Given the description of an element on the screen output the (x, y) to click on. 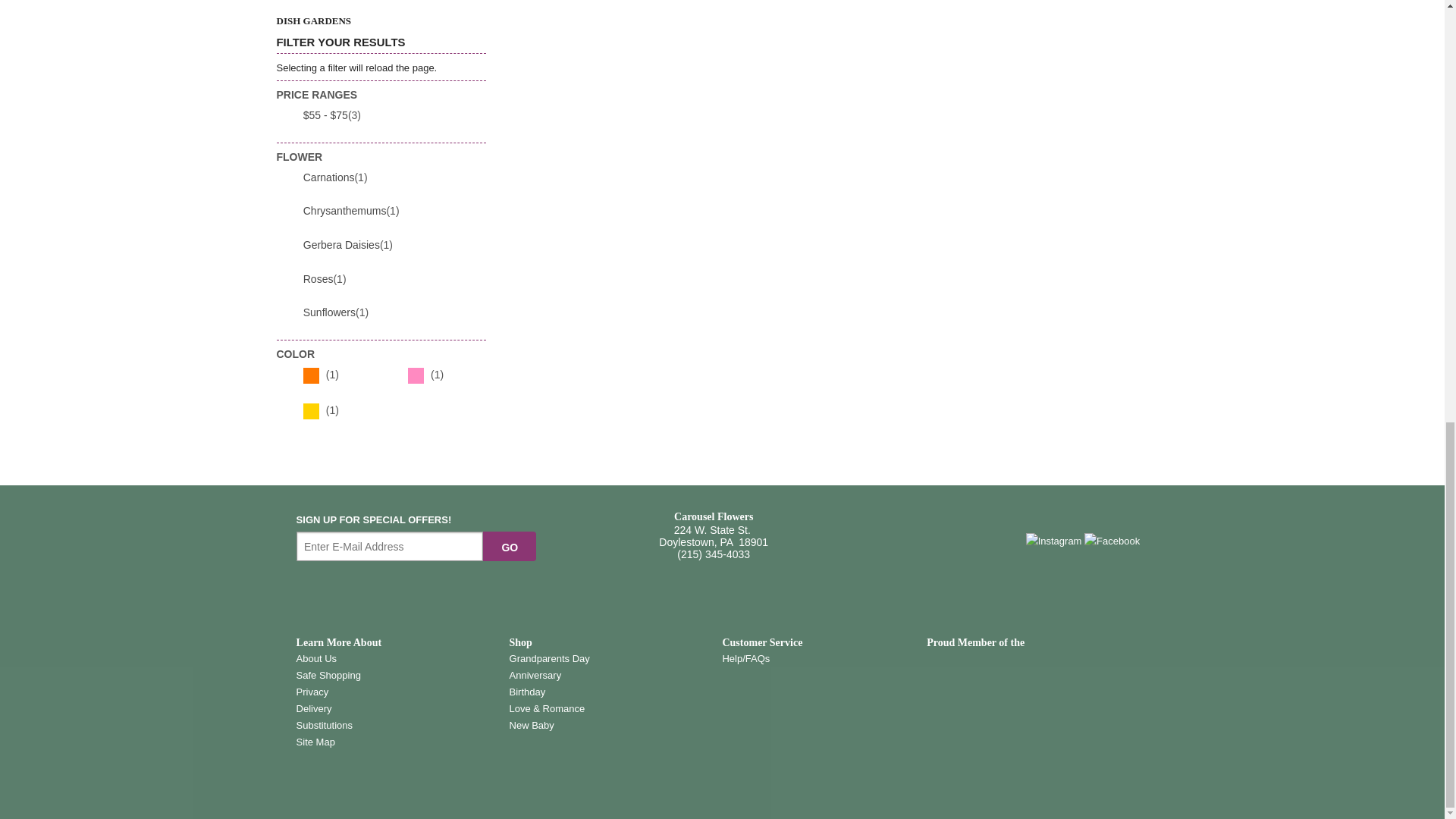
go (509, 546)
Go (509, 546)
Email Sign up (390, 546)
